Given the description of an element on the screen output the (x, y) to click on. 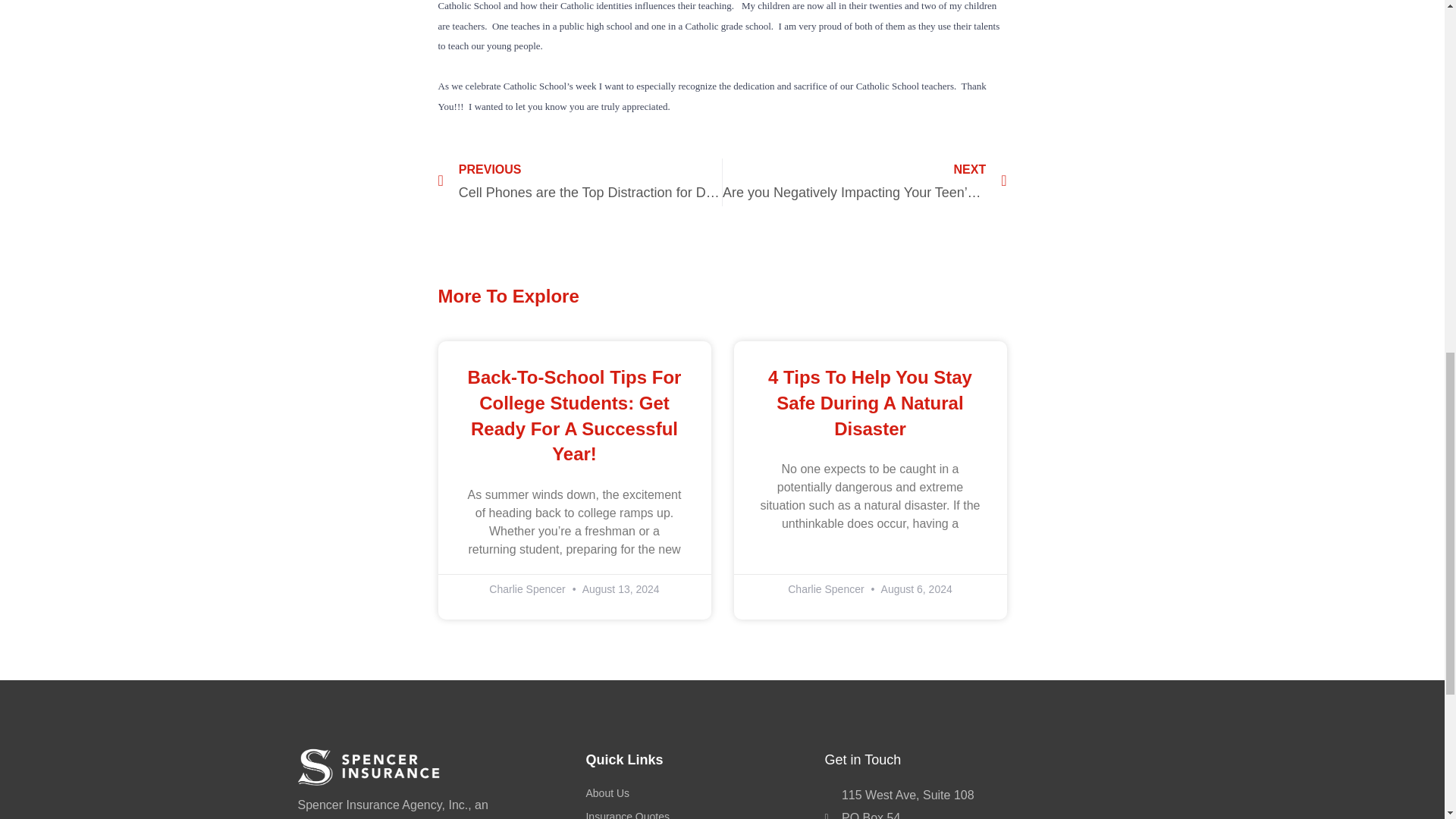
About Us (697, 793)
4 Tips To Help You Stay Safe During A Natural Disaster (870, 402)
Insurance Quotes (697, 813)
